Given the description of an element on the screen output the (x, y) to click on. 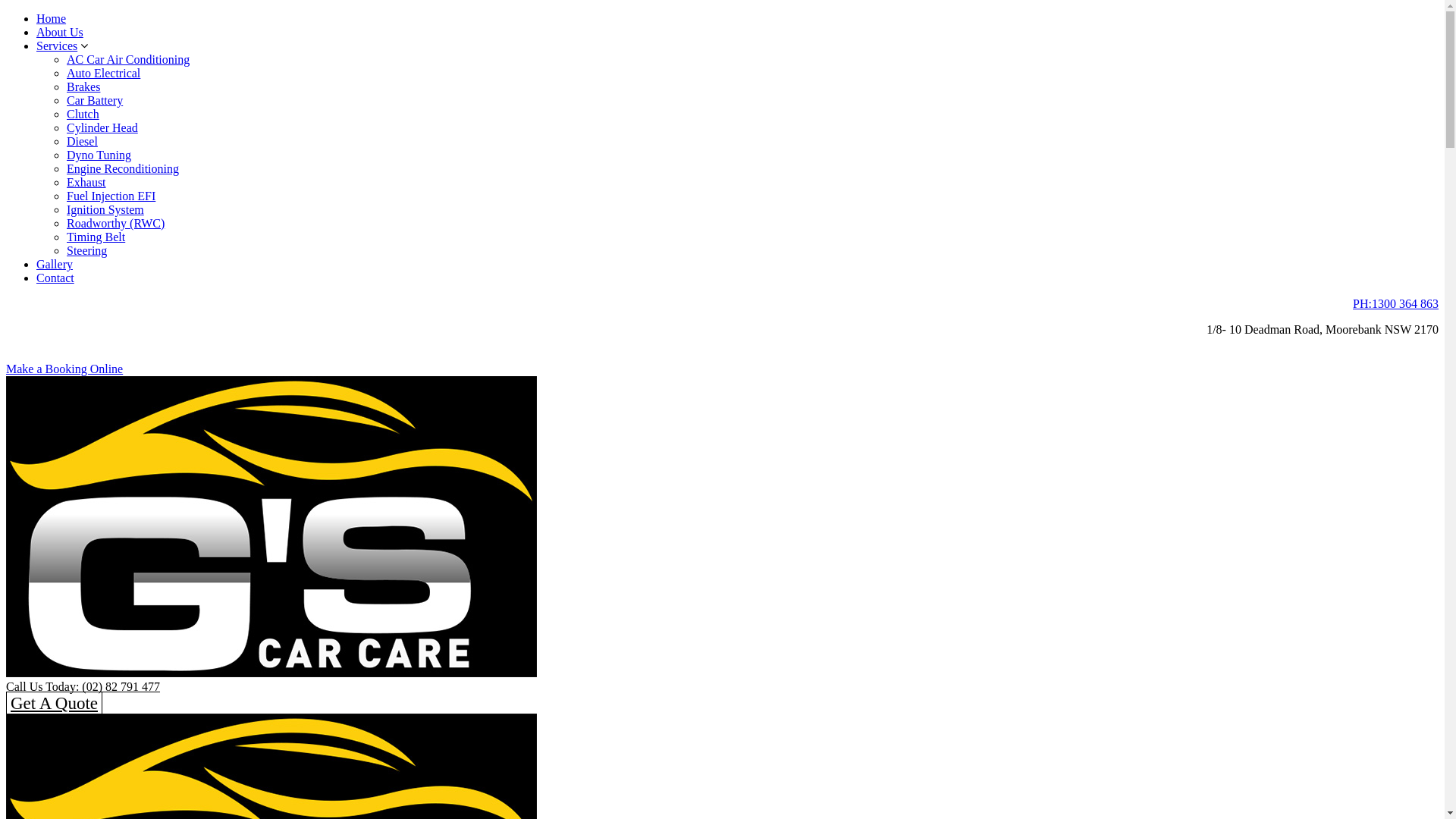
Clutch Element type: text (82, 113)
Roadworthy (RWC) Element type: text (115, 222)
Auto Electrical Element type: text (103, 72)
Home Element type: text (50, 18)
Contact Element type: text (55, 277)
Fuel Injection EFI Element type: text (110, 195)
Ignition System Element type: text (105, 209)
About Us Element type: text (59, 31)
Get A Quote Element type: text (54, 703)
GS Car Care -  Element type: hover (271, 672)
Dyno Tuning Element type: text (98, 154)
Gallery Element type: text (54, 263)
AC Car Air Conditioning Element type: text (127, 59)
Diesel Element type: text (81, 140)
Timing Belt Element type: text (95, 236)
Car Battery Element type: text (94, 100)
(02) 82 791 477 Element type: text (120, 686)
Make a Booking Online Element type: text (64, 368)
PH:1300 364 863 Element type: text (1395, 303)
Brakes Element type: text (83, 86)
Engine Reconditioning Element type: text (122, 168)
Cylinder Head Element type: text (102, 127)
Steering Element type: text (86, 250)
Exhaust Element type: text (86, 181)
Services Element type: text (56, 45)
